Given the description of an element on the screen output the (x, y) to click on. 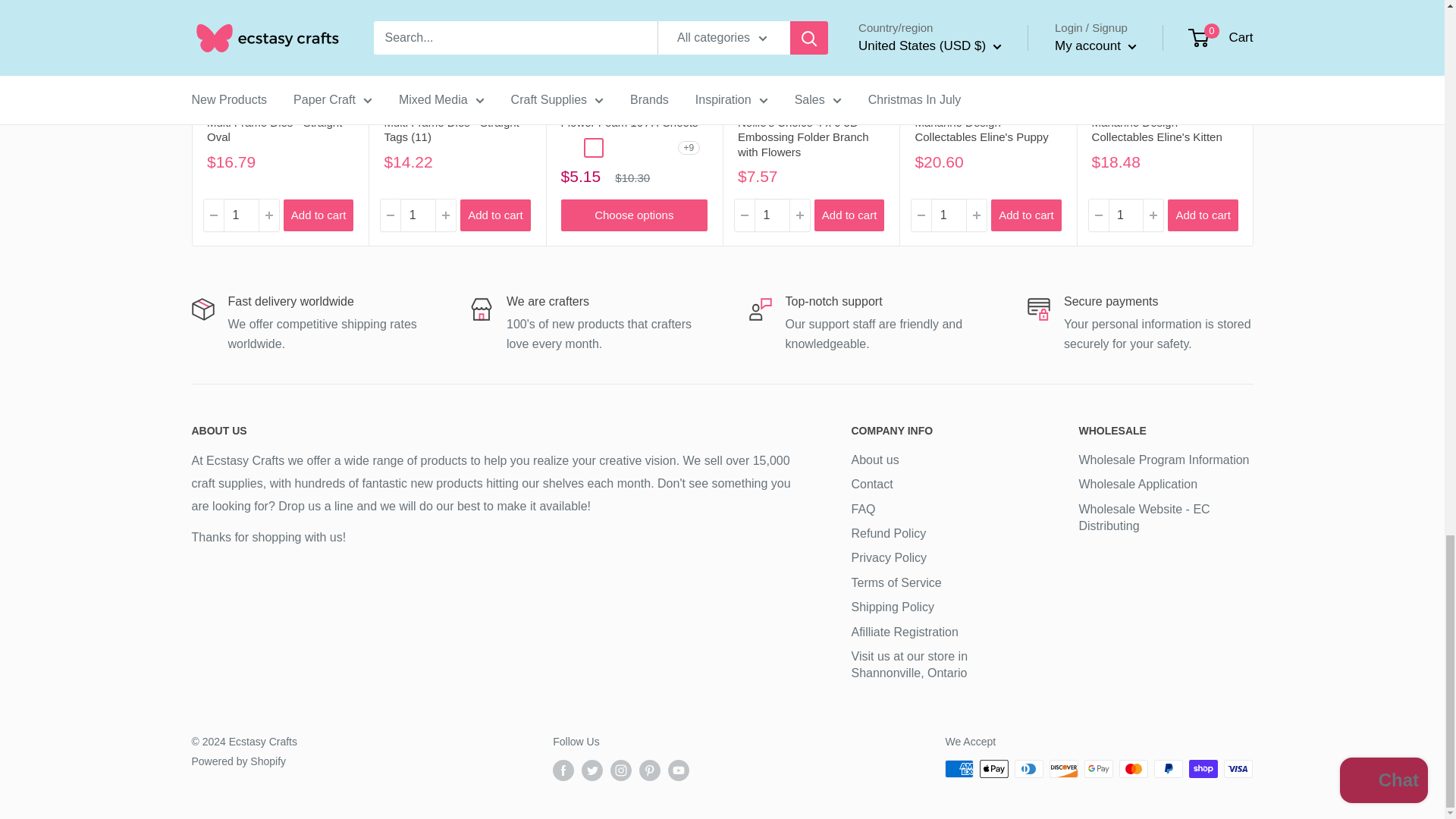
1 (948, 214)
1 (1125, 214)
1 (240, 214)
Beige (638, 147)
Mustard (592, 147)
Bright Yellow (569, 147)
Salmon (615, 147)
1 (771, 214)
1 (417, 214)
Light Violet (660, 147)
